Given the description of an element on the screen output the (x, y) to click on. 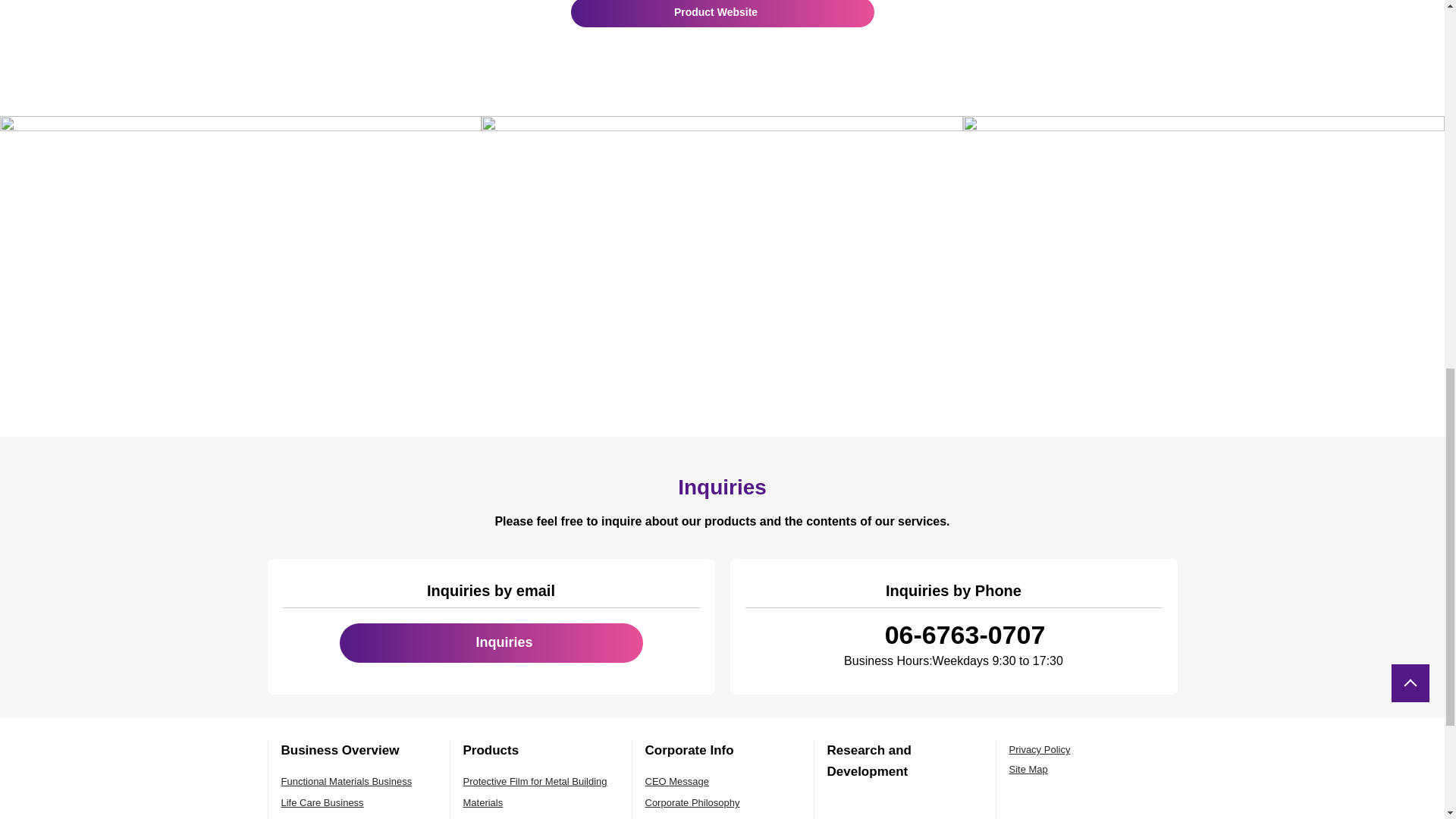
Products (490, 749)
Functional Materials Business (346, 781)
Protective Film for Metal Building Materials (535, 791)
Life Care Business (321, 802)
Inquiries (491, 642)
Product Website (721, 13)
Business Overview (339, 749)
Corporate Info (689, 749)
